Given the description of an element on the screen output the (x, y) to click on. 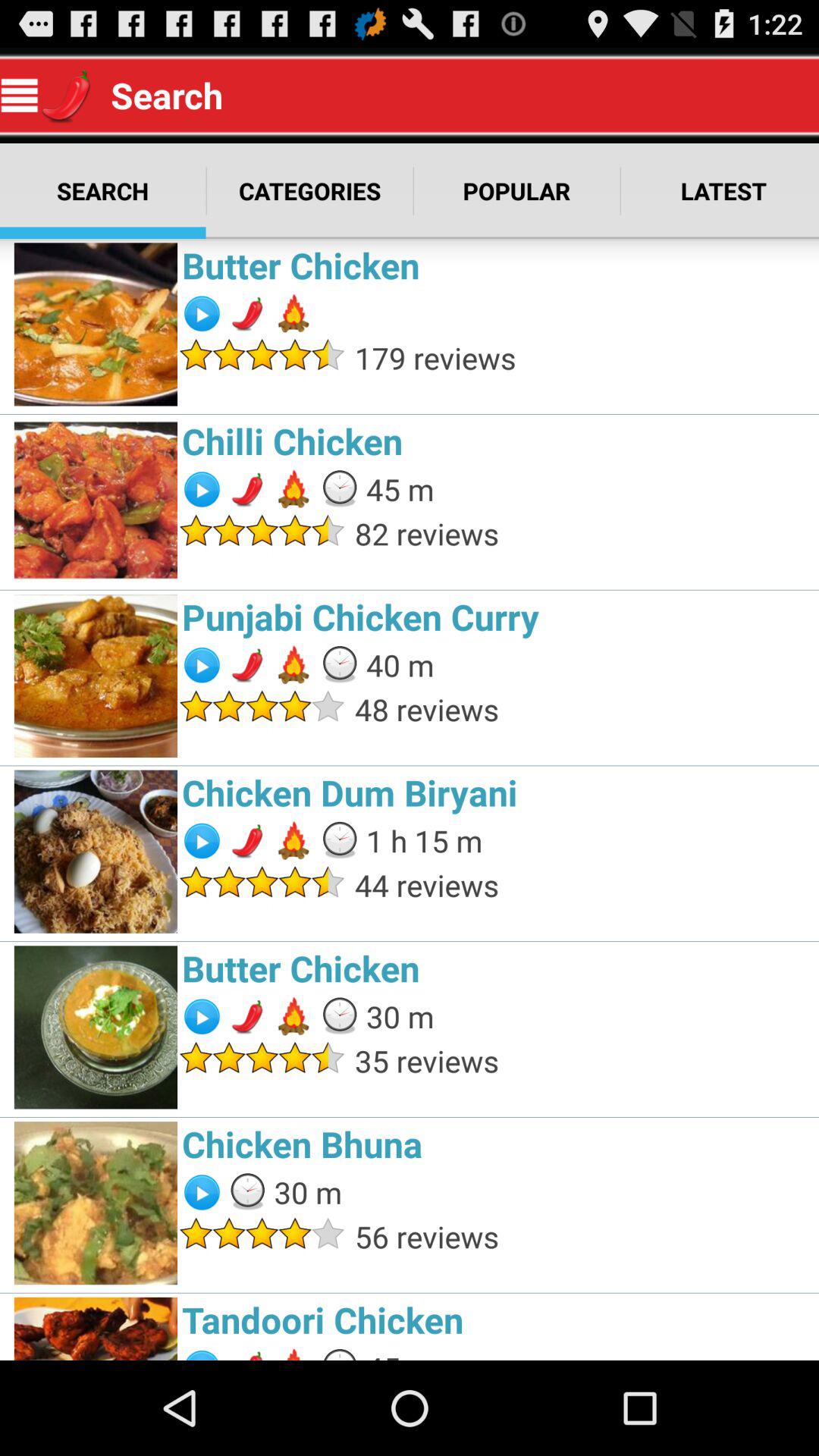
choose 56 reviews app (582, 1236)
